Given the description of an element on the screen output the (x, y) to click on. 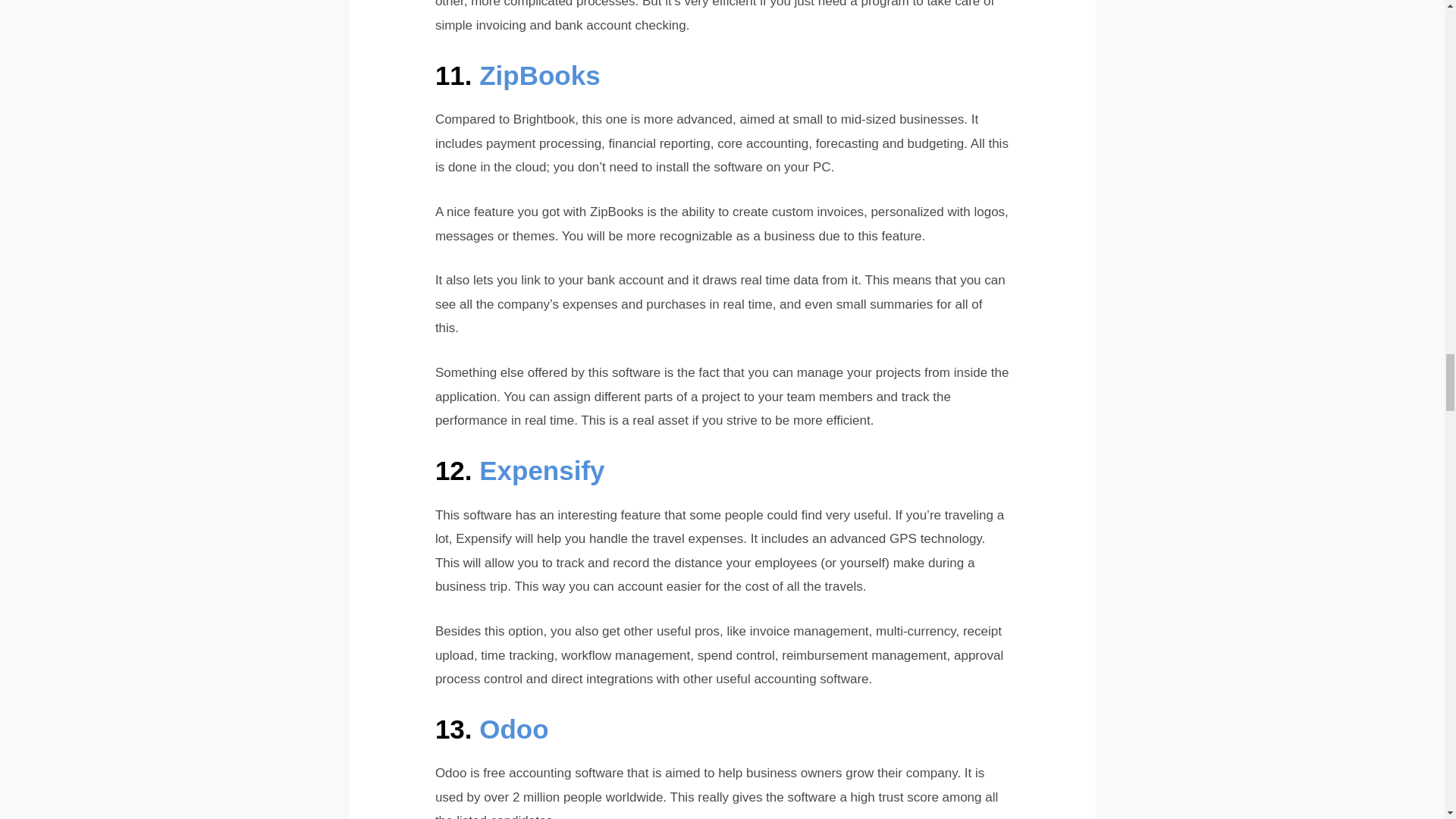
Odoo (513, 728)
ZipBooks (539, 75)
Expensify (541, 470)
